Given the description of an element on the screen output the (x, y) to click on. 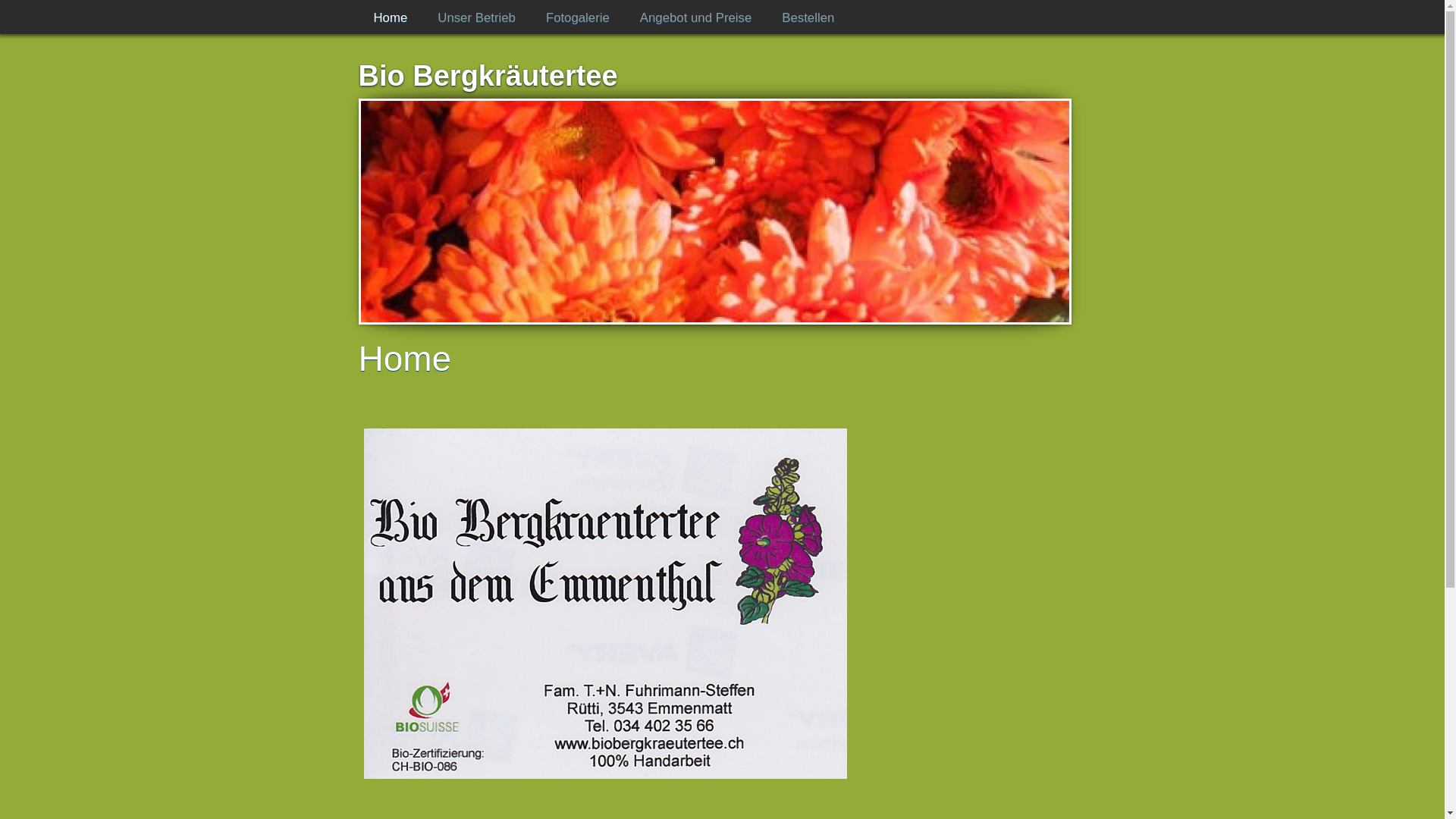
Bestellen Element type: text (807, 17)
Fotogalerie Element type: text (577, 17)
Unser Betrieb Element type: text (476, 17)
Angebot und Preise Element type: text (695, 17)
Home Element type: text (390, 17)
